Given the description of an element on the screen output the (x, y) to click on. 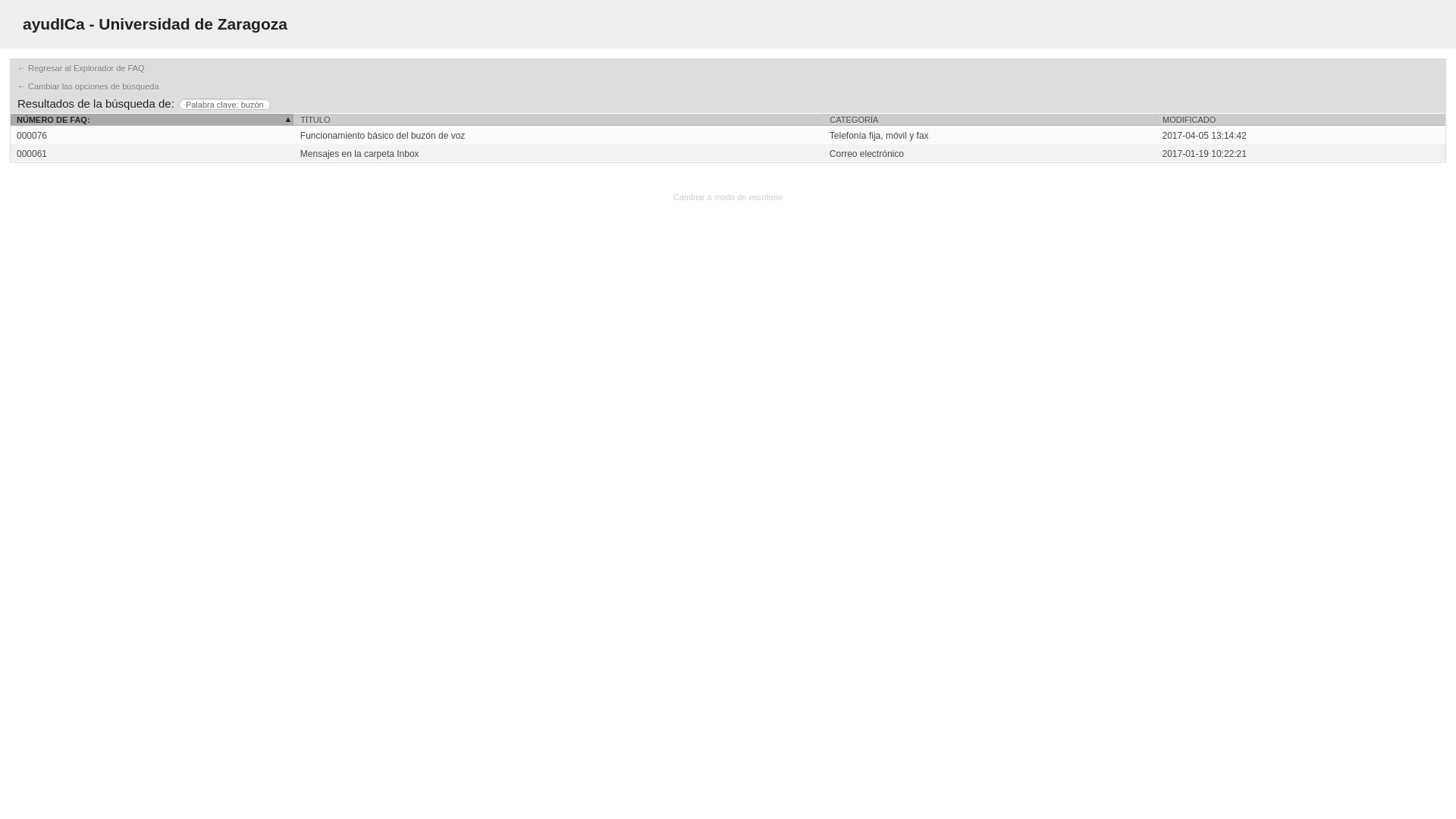
ayudICa - Universidad de Zaragoza (154, 23)
000061 (727, 153)
000061 (31, 153)
000076 (727, 135)
Cambiar a modo de escritorio (727, 196)
000076 (31, 135)
Mensajes en la carpeta Inbox (559, 153)
MODIFICADO (1300, 119)
